Given the description of an element on the screen output the (x, y) to click on. 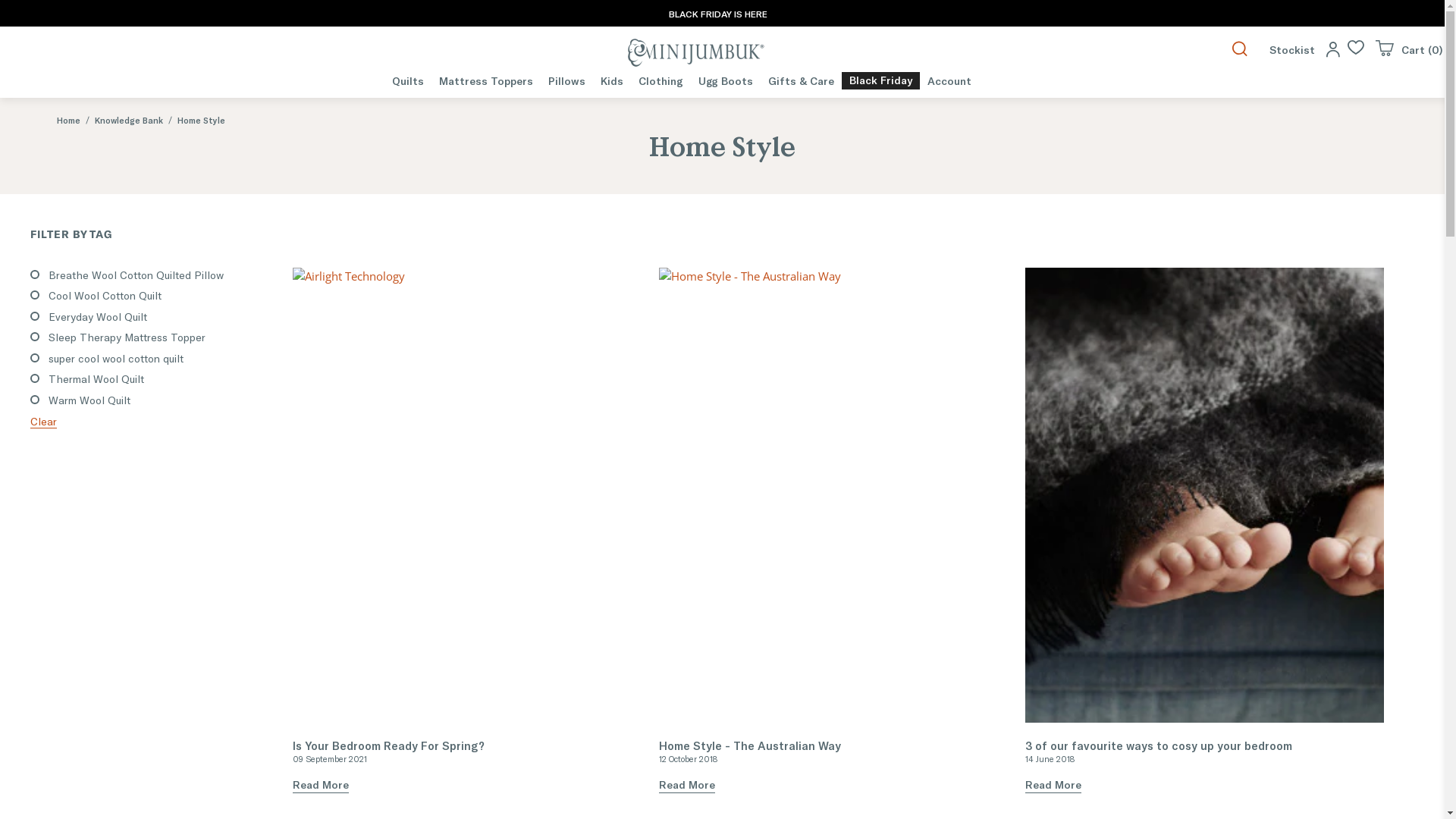
Quilts Element type: text (407, 80)
12 October 2018 Element type: text (687, 758)
Account Element type: text (949, 80)
Is Your Bedroom Ready For Spring? Element type: hover (471, 494)
Clothing Element type: text (660, 80)
Read More Element type: text (1053, 784)
Clear Element type: text (43, 421)
Pillows Element type: text (566, 80)
Gifts & Care Element type: text (800, 80)
14 June 2018 Element type: text (1049, 758)
Thermal Wool Quilt Element type: text (96, 378)
Read More Element type: text (686, 784)
Home Style - The Australian Way Element type: text (749, 745)
Kids Element type: text (611, 80)
Cool Wool Cotton Quilt Element type: text (104, 295)
BLACK FRIDAY IS HERE Element type: text (717, 12)
Home Element type: text (68, 120)
Mattress Toppers Element type: text (485, 80)
super cool wool cotton quilt Element type: text (115, 358)
Knowledge Bank Element type: text (128, 120)
Home Style Element type: text (201, 120)
Breathe Wool Cotton Quilted Pillow Element type: text (135, 274)
Stockist Element type: text (1291, 48)
Is Your Bedroom Ready For Spring? Element type: text (388, 745)
3 of our favourite ways to cosy up your bedroom Element type: hover (1204, 494)
3 of our favourite ways to cosy up your bedroom Element type: hover (1204, 530)
Ugg Boots Element type: text (725, 80)
Sleep Therapy Mattress Topper Element type: text (126, 337)
Black Friday Element type: text (880, 80)
09 September 2021 Element type: text (329, 758)
Read More Element type: text (320, 784)
MiniJumbuk Element type: hover (695, 52)
Home Style - The Australian Way Element type: hover (837, 494)
Is Your Bedroom Ready For Spring? Element type: hover (471, 530)
Warm Wool Quilt Element type: text (89, 399)
3 of our favourite ways to cosy up your bedroom Element type: text (1158, 745)
Home Style - The Australian Way Element type: hover (837, 530)
Cart (0) Element type: text (1409, 48)
Everyday Wool Quilt Element type: text (97, 316)
